Given the description of an element on the screen output the (x, y) to click on. 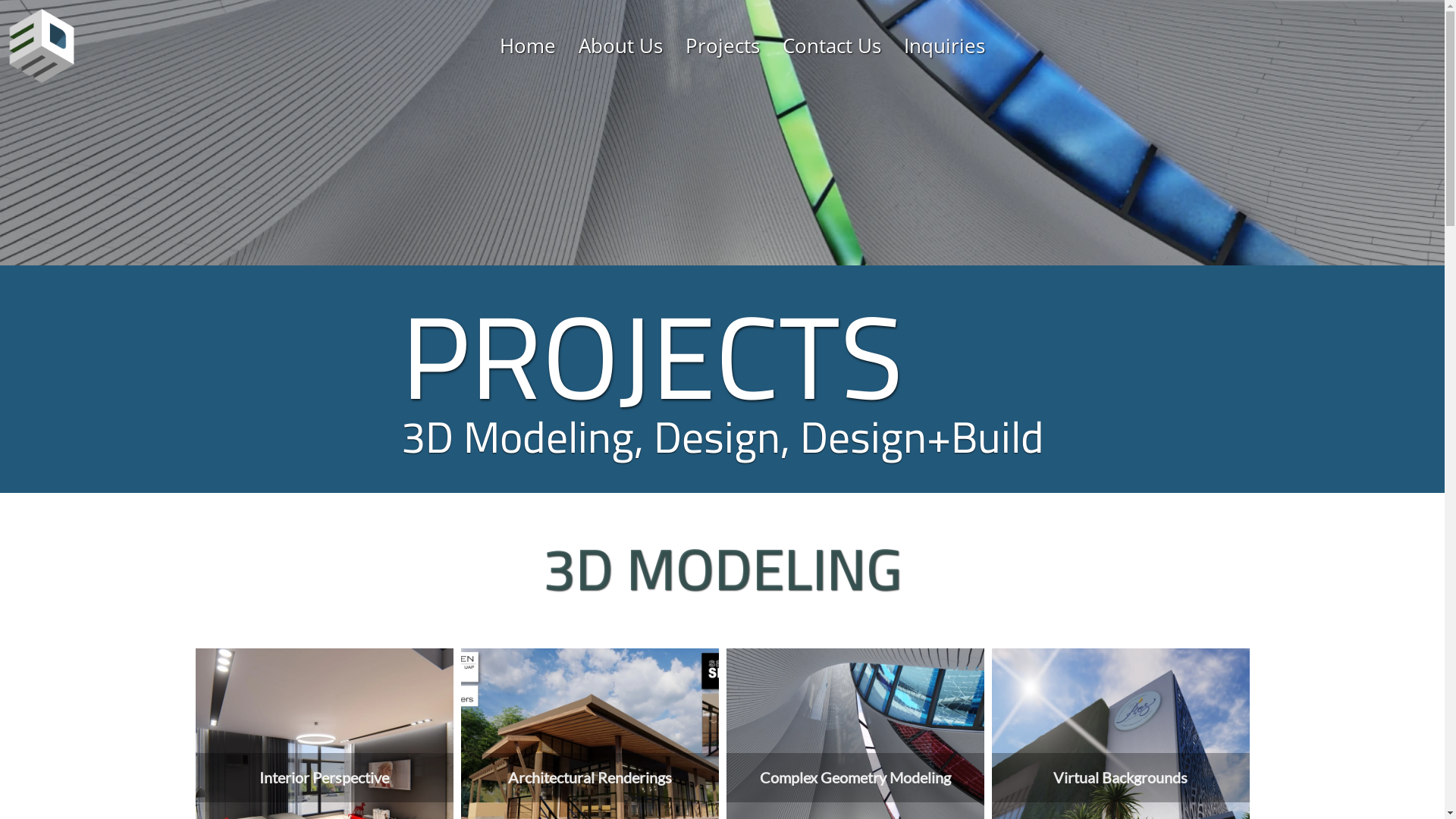
Home Element type: text (527, 45)
3DM Design.Builders Element type: hover (41, 45)
Contact Us Element type: text (831, 45)
About Us Element type: text (620, 45)
Projects Element type: text (722, 45)
Inquiries Element type: text (944, 45)
